Given the description of an element on the screen output the (x, y) to click on. 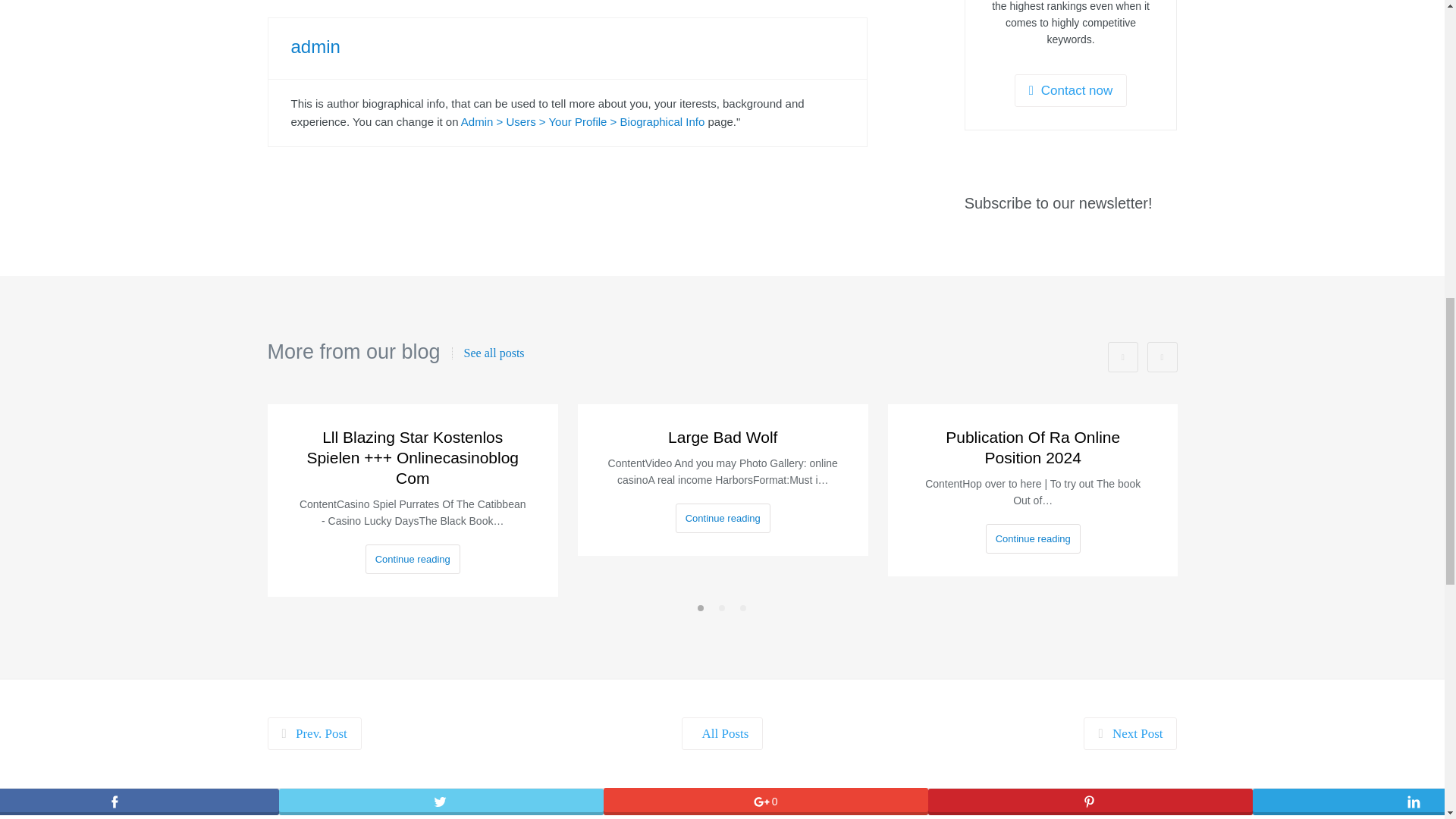
Large Bad Wolf (723, 436)
Continue reading (412, 559)
admin (315, 46)
Contact now (1070, 90)
See all posts (487, 353)
Continue reading (722, 518)
